Given the description of an element on the screen output the (x, y) to click on. 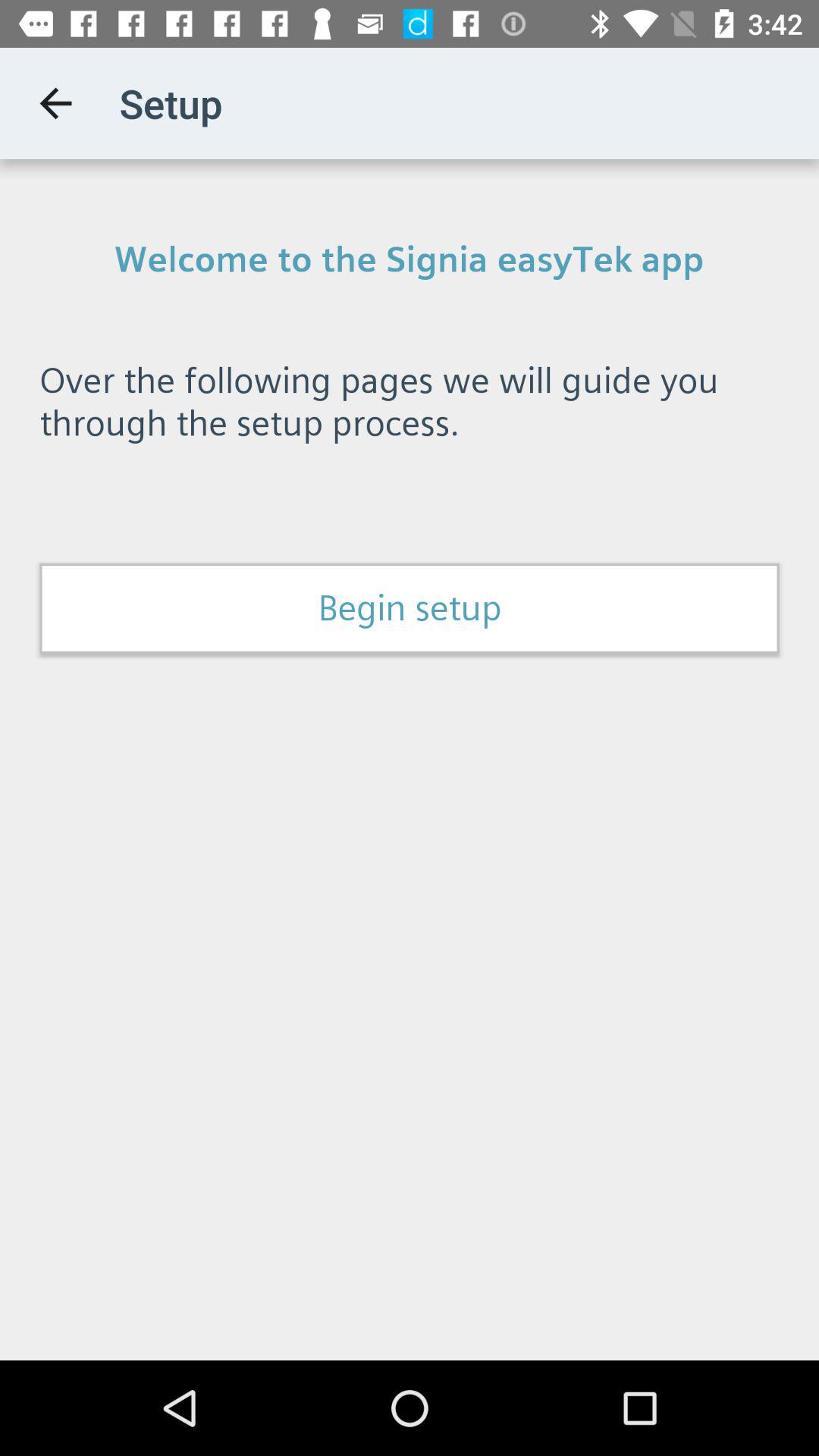
choose app to the left of setup (55, 103)
